Given the description of an element on the screen output the (x, y) to click on. 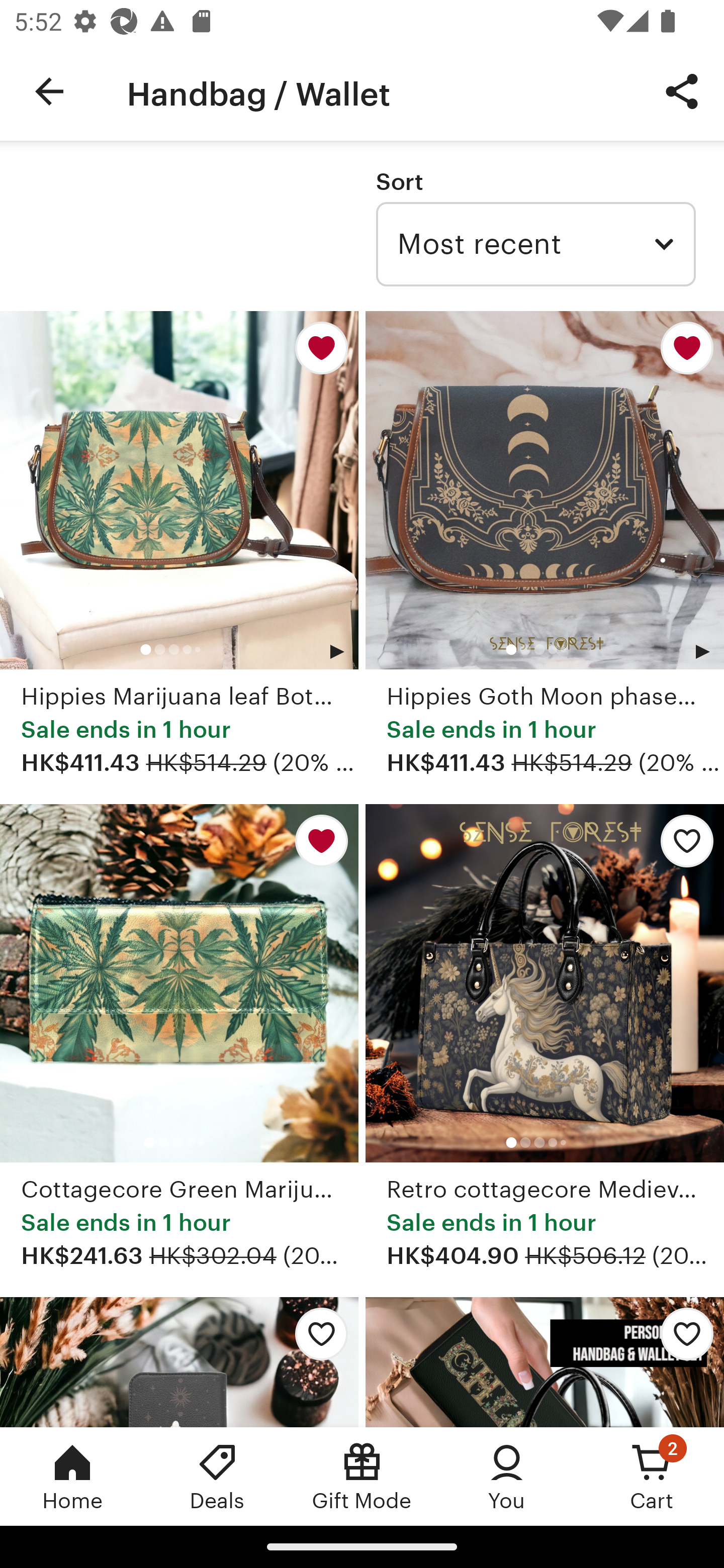
Navigate up (49, 91)
Share Button (681, 90)
Sort (399, 181)
Most recent (535, 244)
Deals (216, 1475)
Gift Mode (361, 1475)
You (506, 1475)
Cart, 2 new notifications Cart (651, 1475)
